Given the description of an element on the screen output the (x, y) to click on. 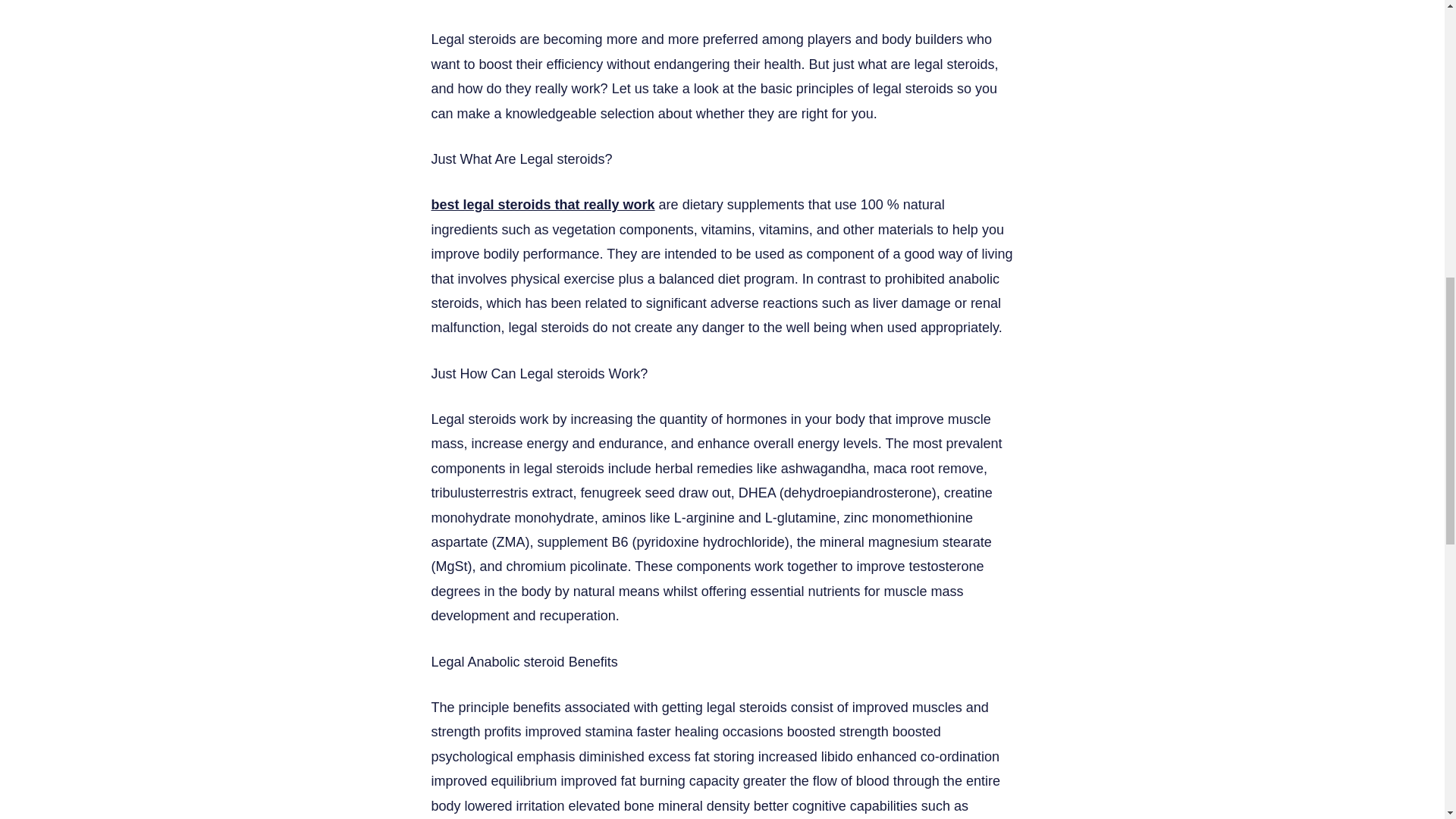
best legal steroids that really work (541, 204)
